Given the description of an element on the screen output the (x, y) to click on. 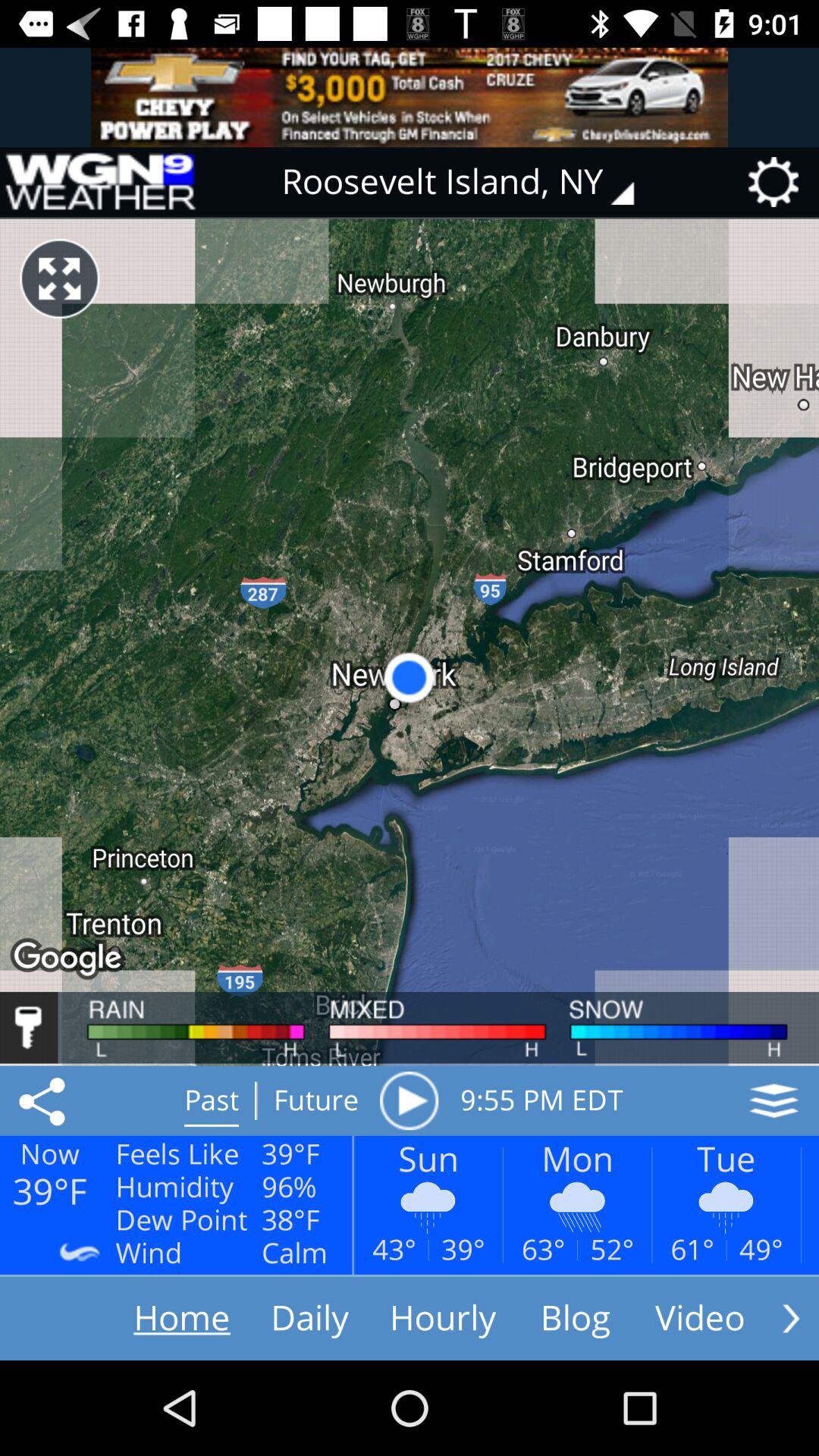
plays a snapshot of the weather (409, 1100)
